Given the description of an element on the screen output the (x, y) to click on. 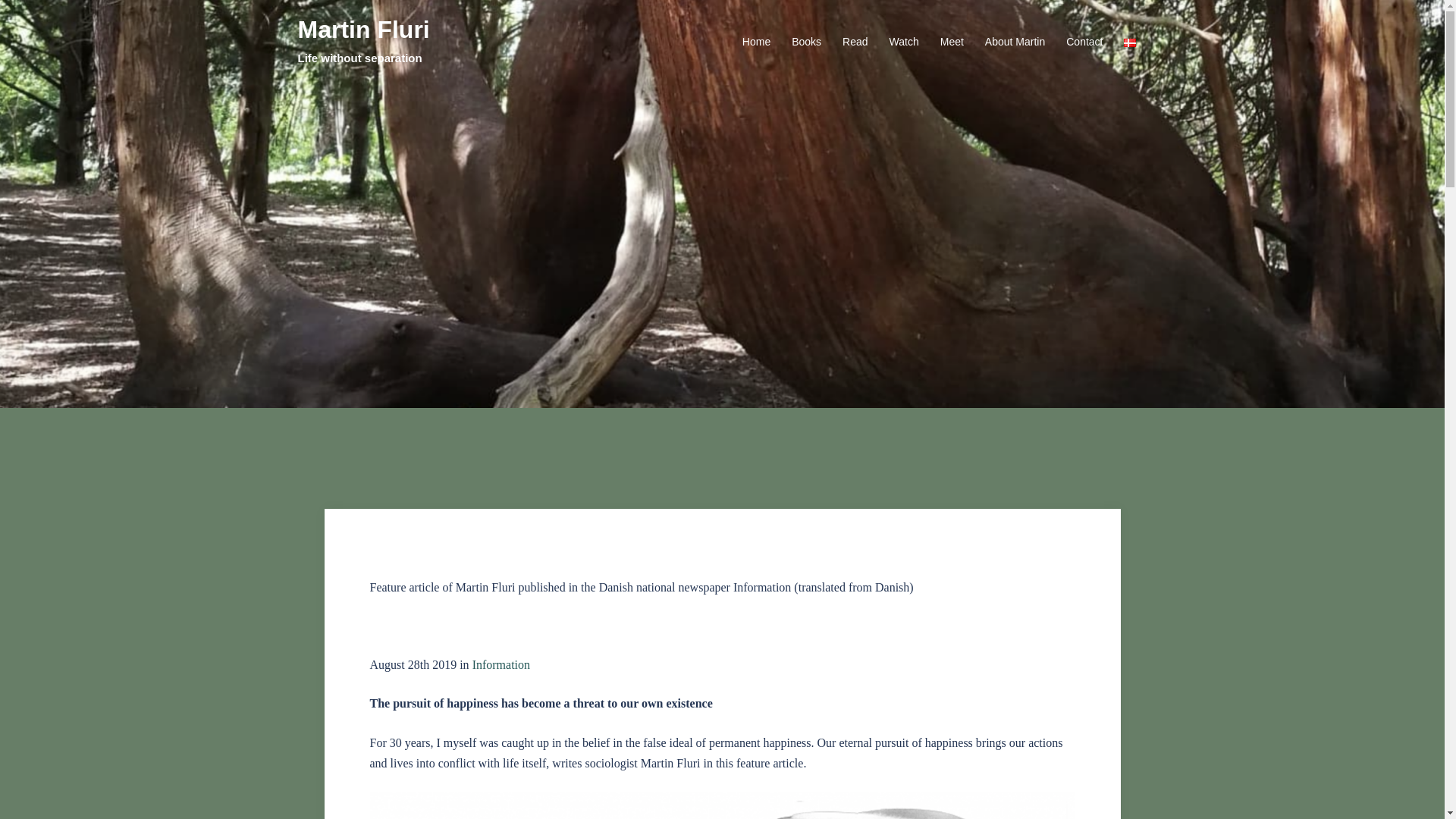
Meet (951, 42)
Watch (903, 42)
Information (501, 664)
Read (855, 42)
About Martin (1015, 42)
Contact (1083, 42)
Books (806, 42)
Home (756, 42)
Martin Fluri (363, 29)
